Given the description of an element on the screen output the (x, y) to click on. 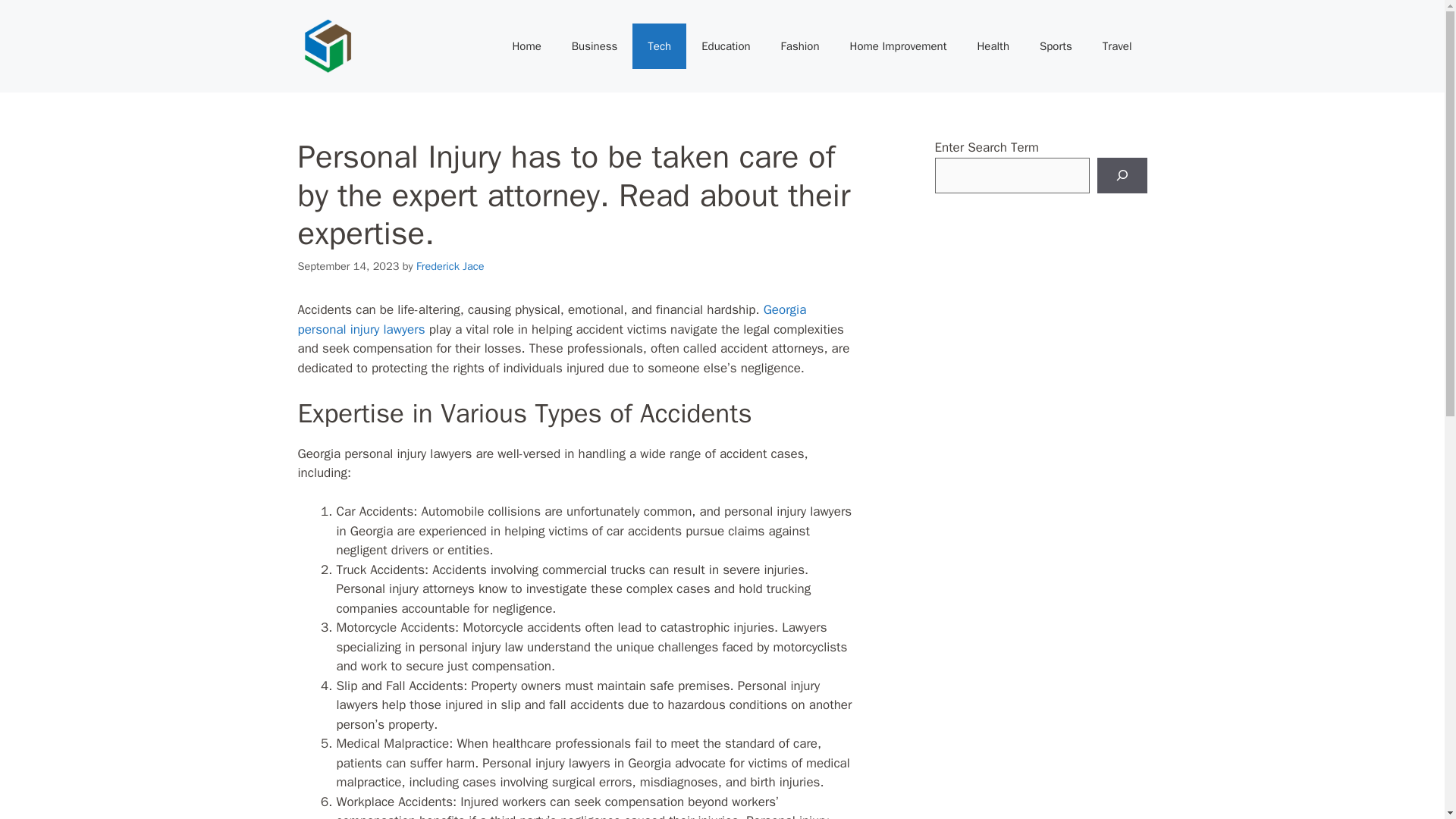
Home Improvement (898, 45)
Education (725, 45)
Sports (1056, 45)
Fashion (799, 45)
Frederick Jace (450, 265)
Travel (1117, 45)
Business (594, 45)
Tech (658, 45)
Home (526, 45)
Health (992, 45)
View all posts by Frederick Jace (450, 265)
Georgia personal injury lawyers (551, 319)
